Given the description of an element on the screen output the (x, y) to click on. 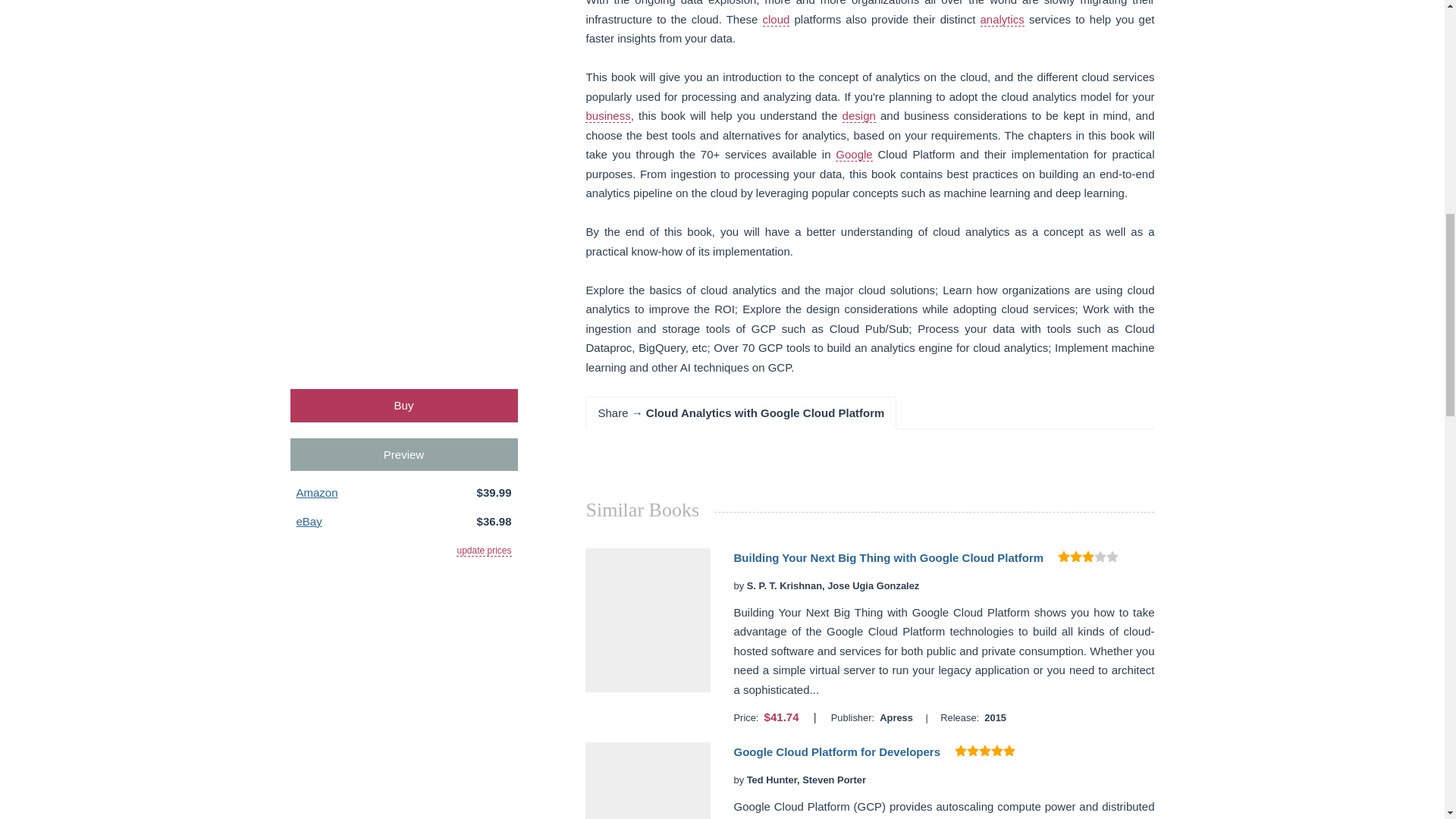
design (859, 115)
Building Your Next Big Thing with Google Cloud Platform (888, 557)
Analytics Books (1001, 19)
Preview (402, 454)
analytics (1001, 19)
Google Cloud Platform for Developers (836, 751)
Buy (402, 405)
Cloud Books (776, 19)
cloud (776, 19)
eBay (308, 521)
